Given the description of an element on the screen output the (x, y) to click on. 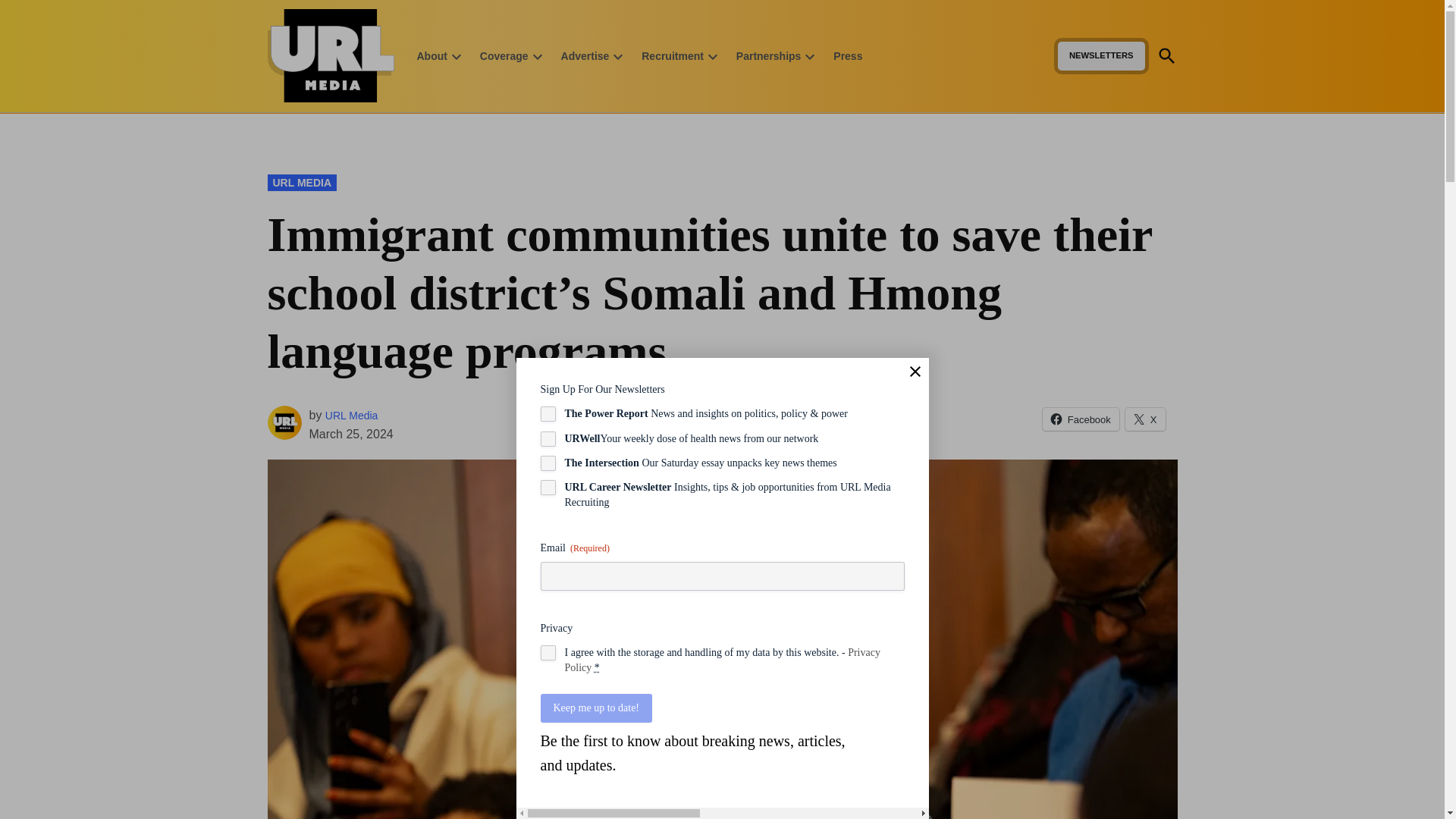
Click to share on Facebook (1080, 418)
Privacy Policy (721, 660)
About (431, 55)
Keep me up to date! (596, 707)
Keep me up to date! (596, 707)
URL Media (401, 77)
Click to share on X (1145, 418)
